Given the description of an element on the screen output the (x, y) to click on. 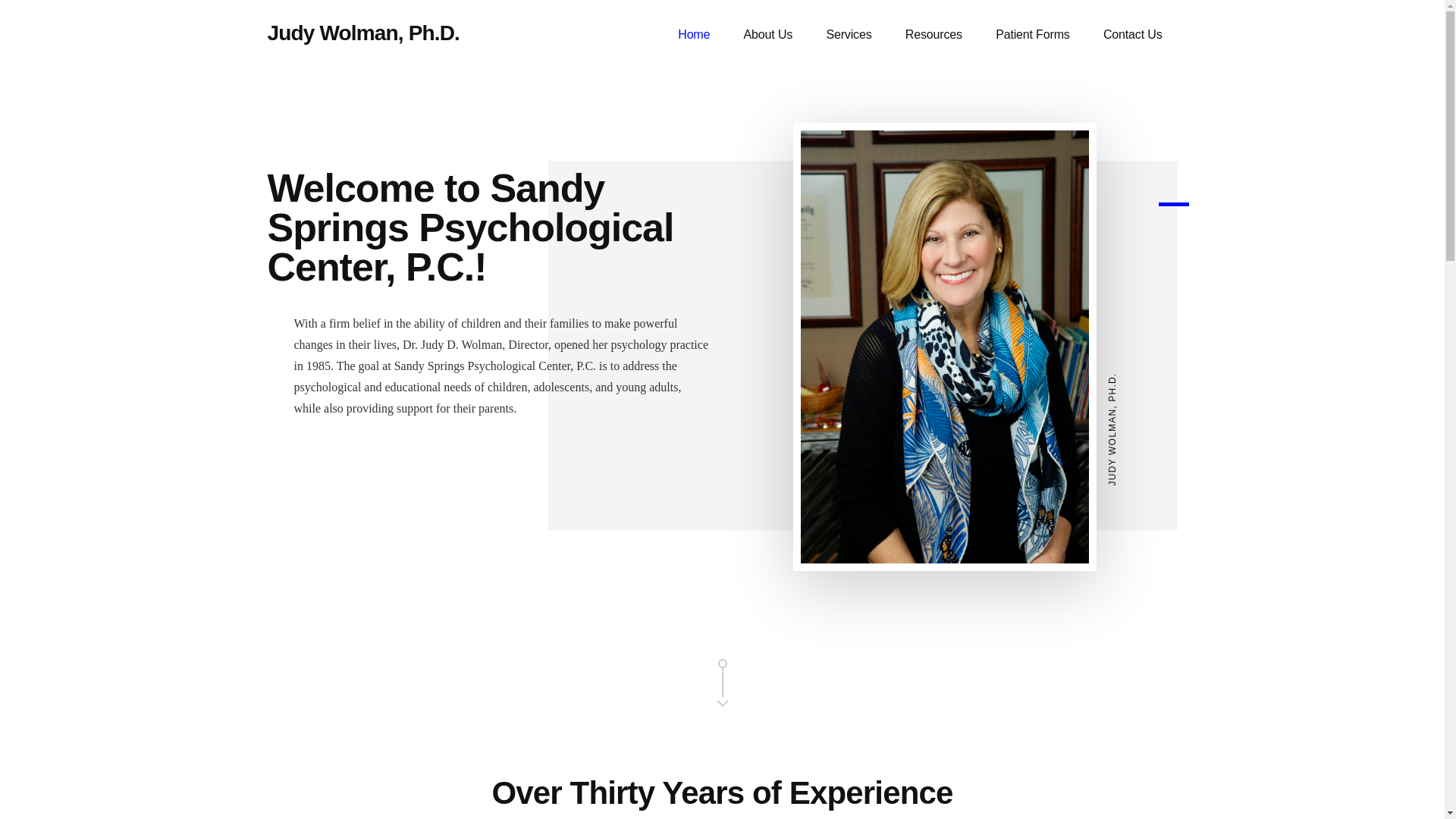
Judy Wolman, Ph.D. (363, 33)
Home (693, 34)
Services (848, 34)
Patient Forms (1031, 34)
About Us (768, 34)
Contact Us (1132, 34)
Resources (932, 34)
